Given the description of an element on the screen output the (x, y) to click on. 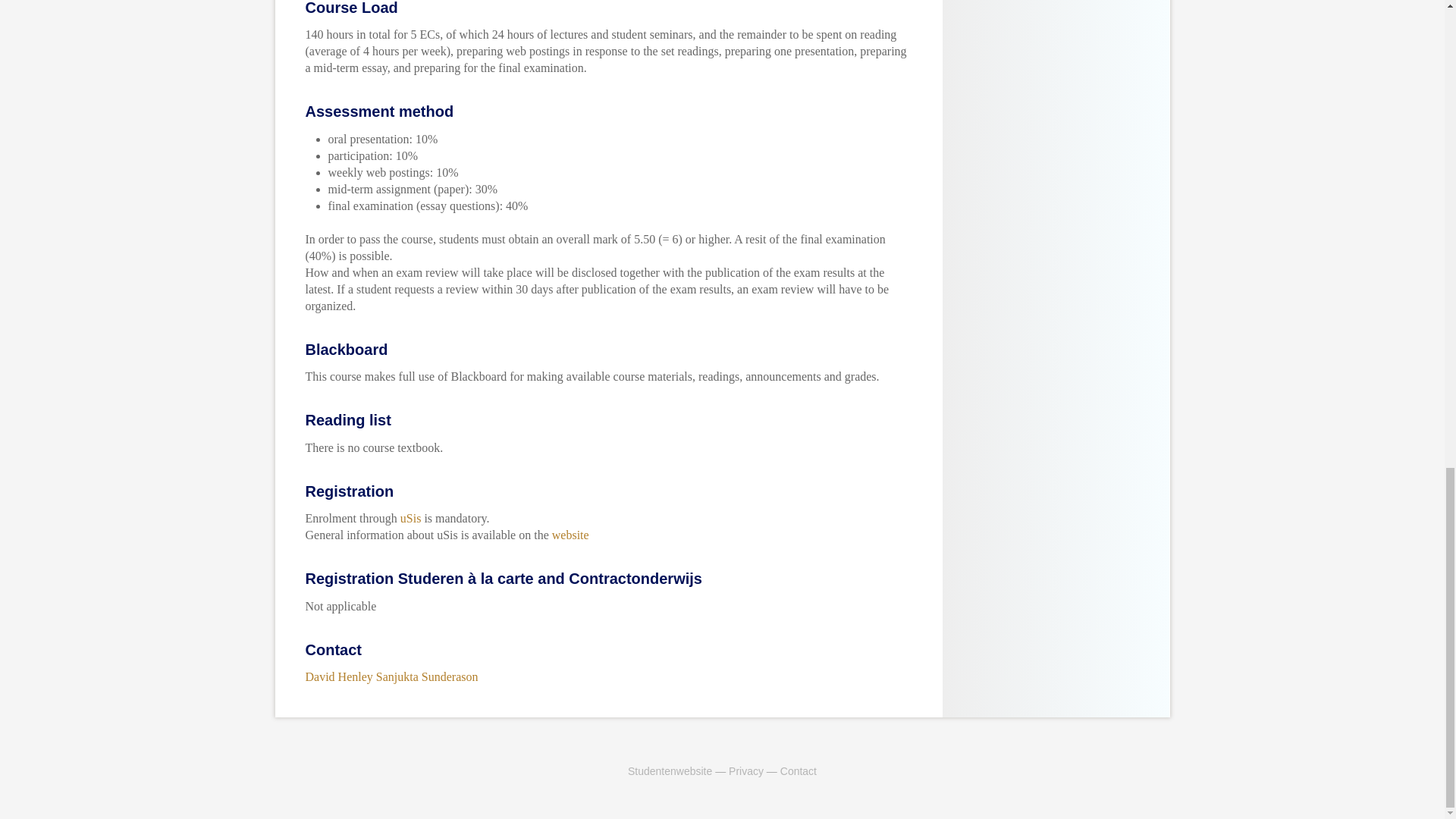
uSis (411, 517)
Studentenwebsite (669, 770)
Sanjukta Sunderason (427, 676)
Privacy (745, 770)
website (570, 534)
Contact (798, 770)
David Henley (338, 676)
